Given the description of an element on the screen output the (x, y) to click on. 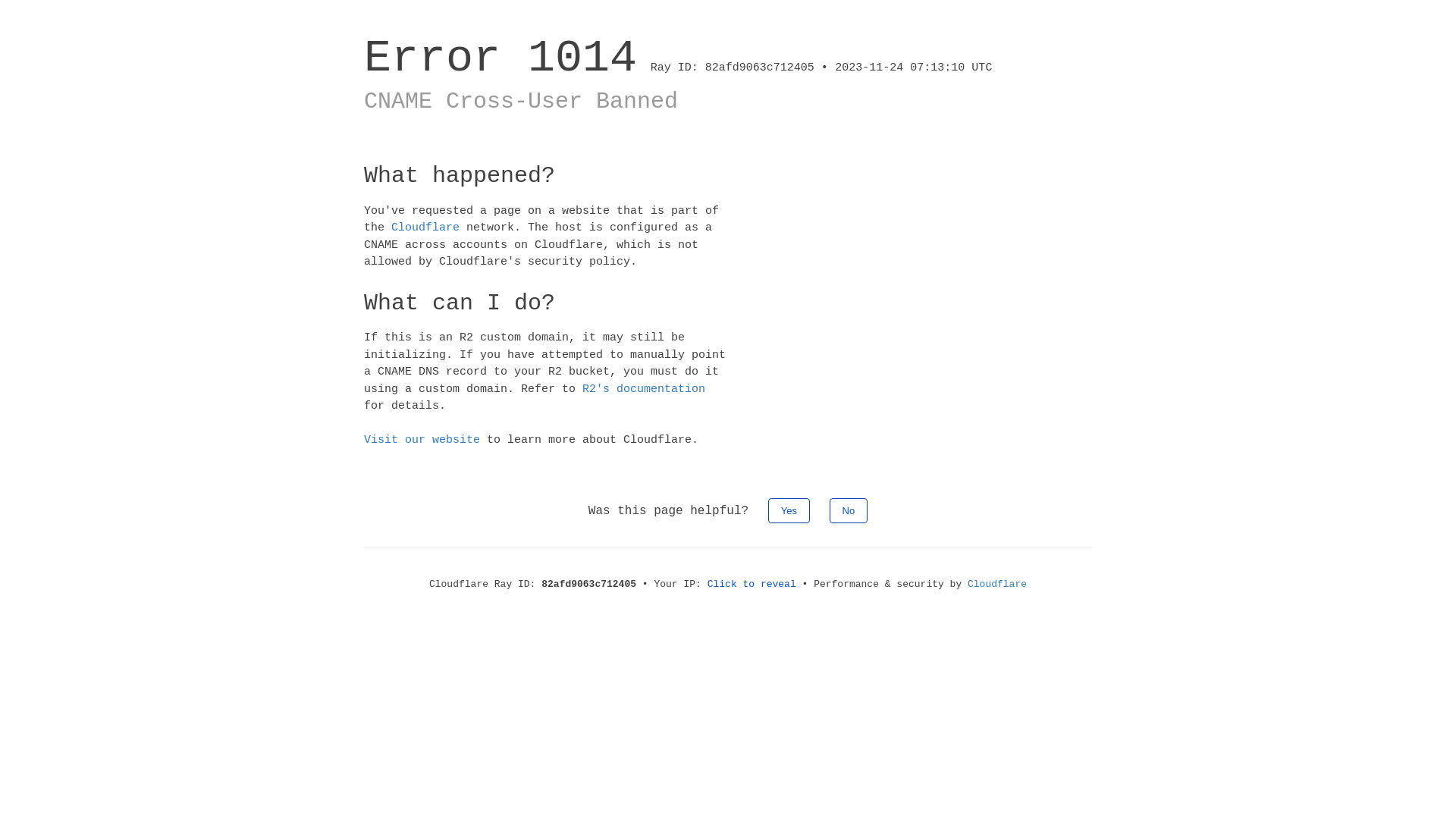
Click to reveal Element type: text (751, 583)
R2's documentation Element type: text (643, 388)
Cloudflare Element type: text (996, 583)
Yes Element type: text (788, 509)
Visit our website Element type: text (422, 439)
Cloudflare Element type: text (425, 227)
No Element type: text (848, 509)
